Given the description of an element on the screen output the (x, y) to click on. 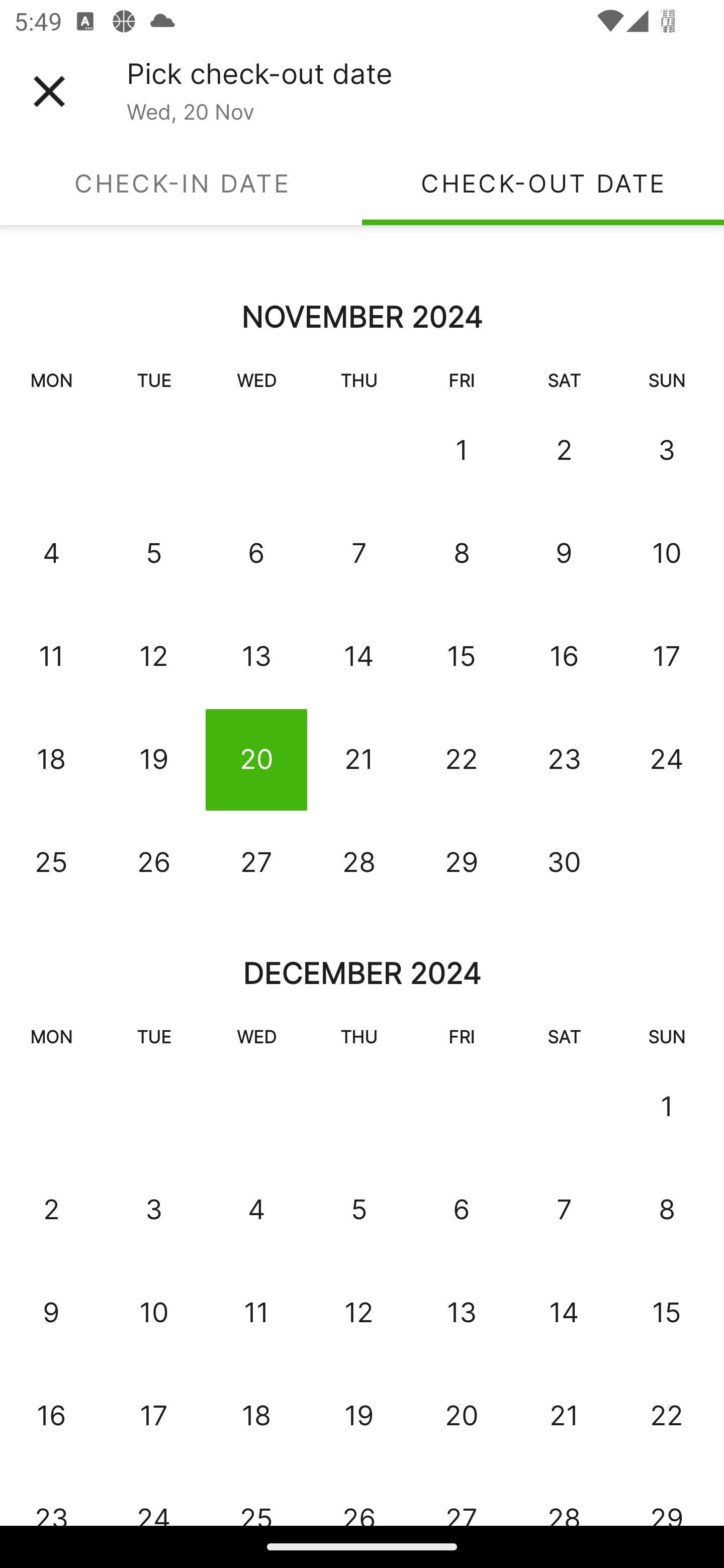
Check-in Date CHECK-IN DATE (181, 183)
